Given the description of an element on the screen output the (x, y) to click on. 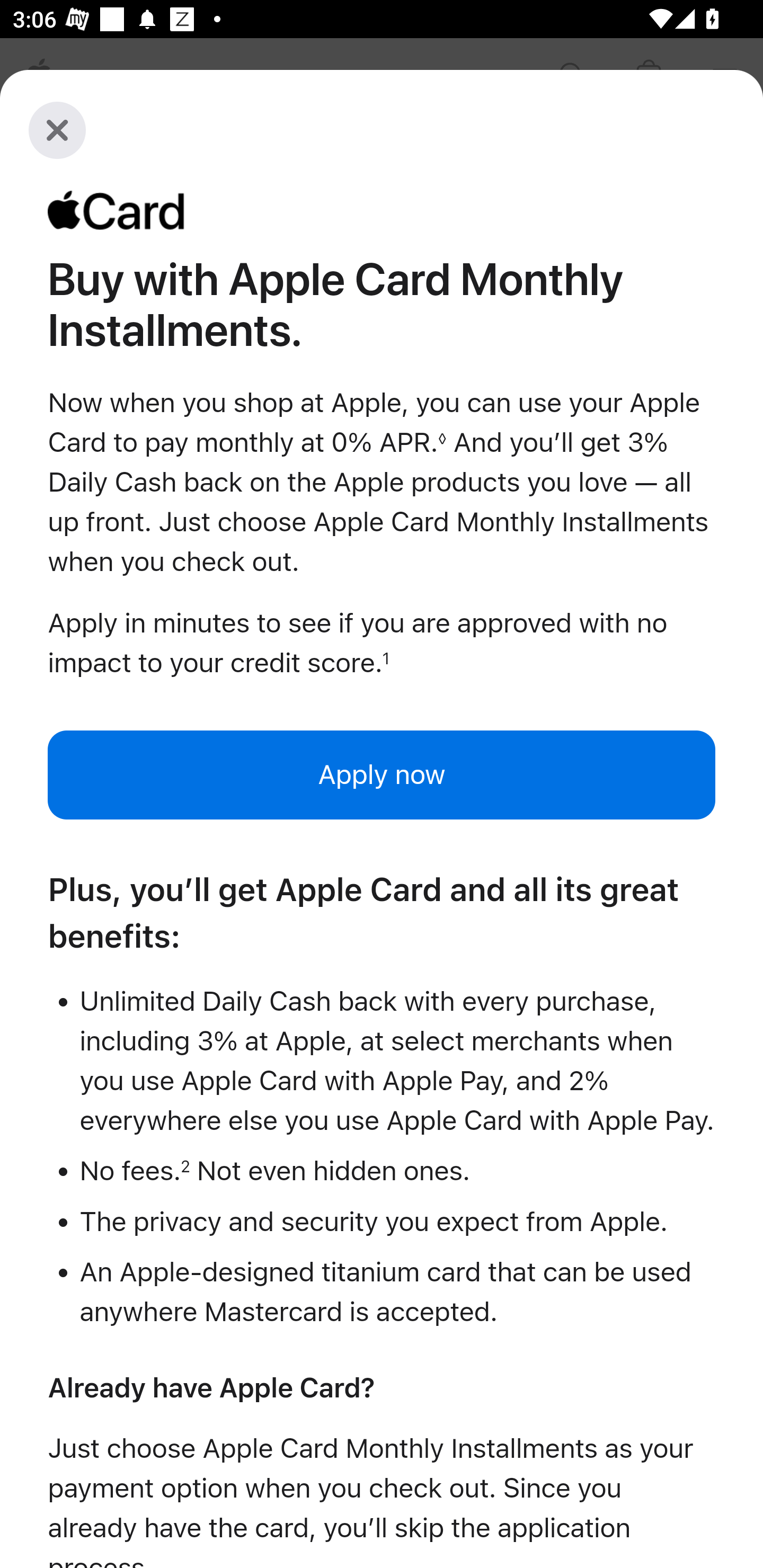
Close (57, 129)
Apply now (381, 774)
